Given the description of an element on the screen output the (x, y) to click on. 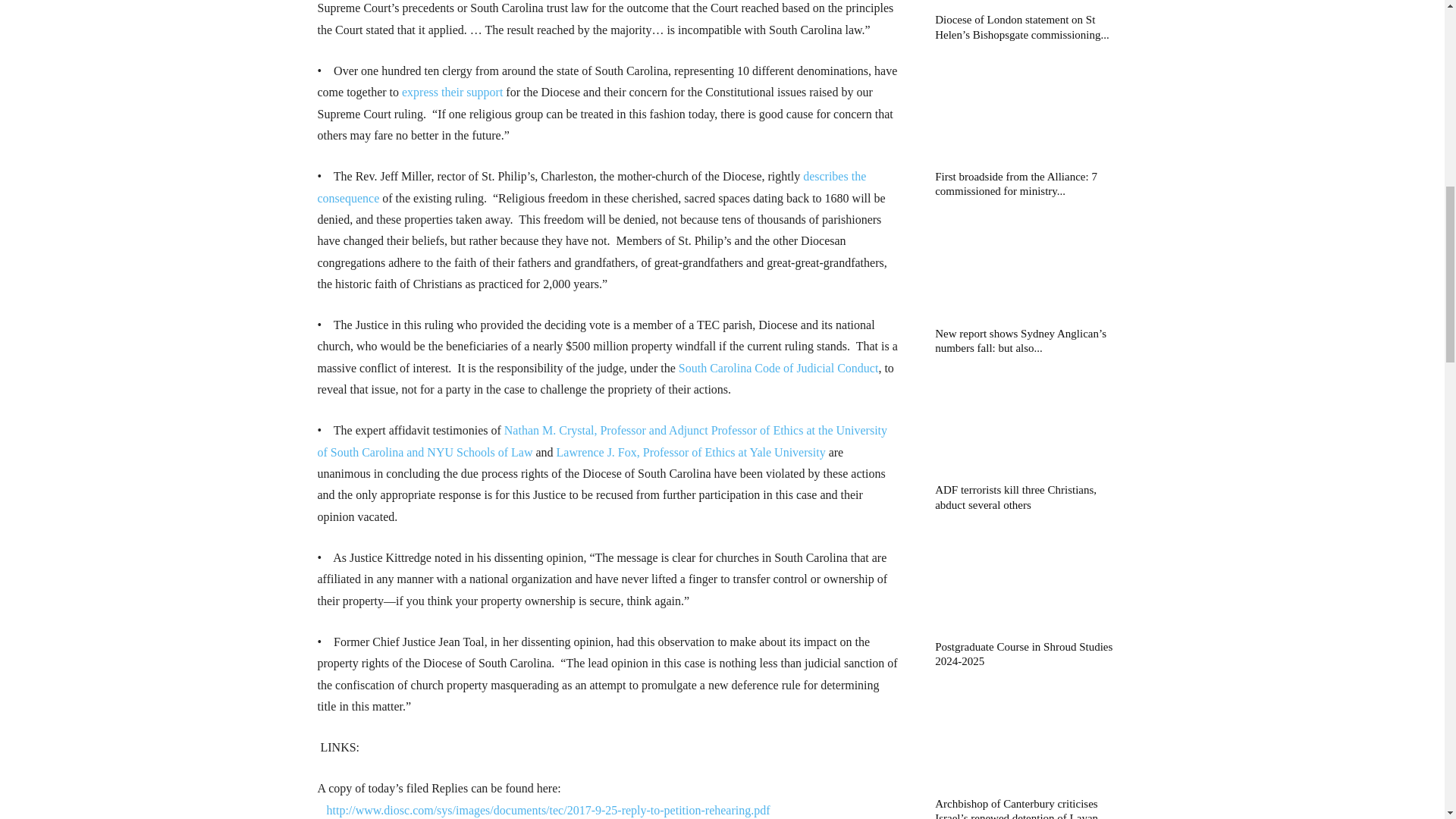
Lawrence J. Fox, Professor of Ethics at Yale University (690, 451)
ADF terrorists kill three Christians, abduct several others (1015, 497)
South Carolina Code of Judicial Conduct (778, 367)
describes the consequence (591, 186)
express their support (451, 91)
ADF terrorists kill three Christians, abduct several others (1030, 425)
Postgraduate Course in Shroud Studies 2024-2025 (1023, 654)
Postgraduate Course in Shroud Studies 2024-2025 (1030, 581)
